Given the description of an element on the screen output the (x, y) to click on. 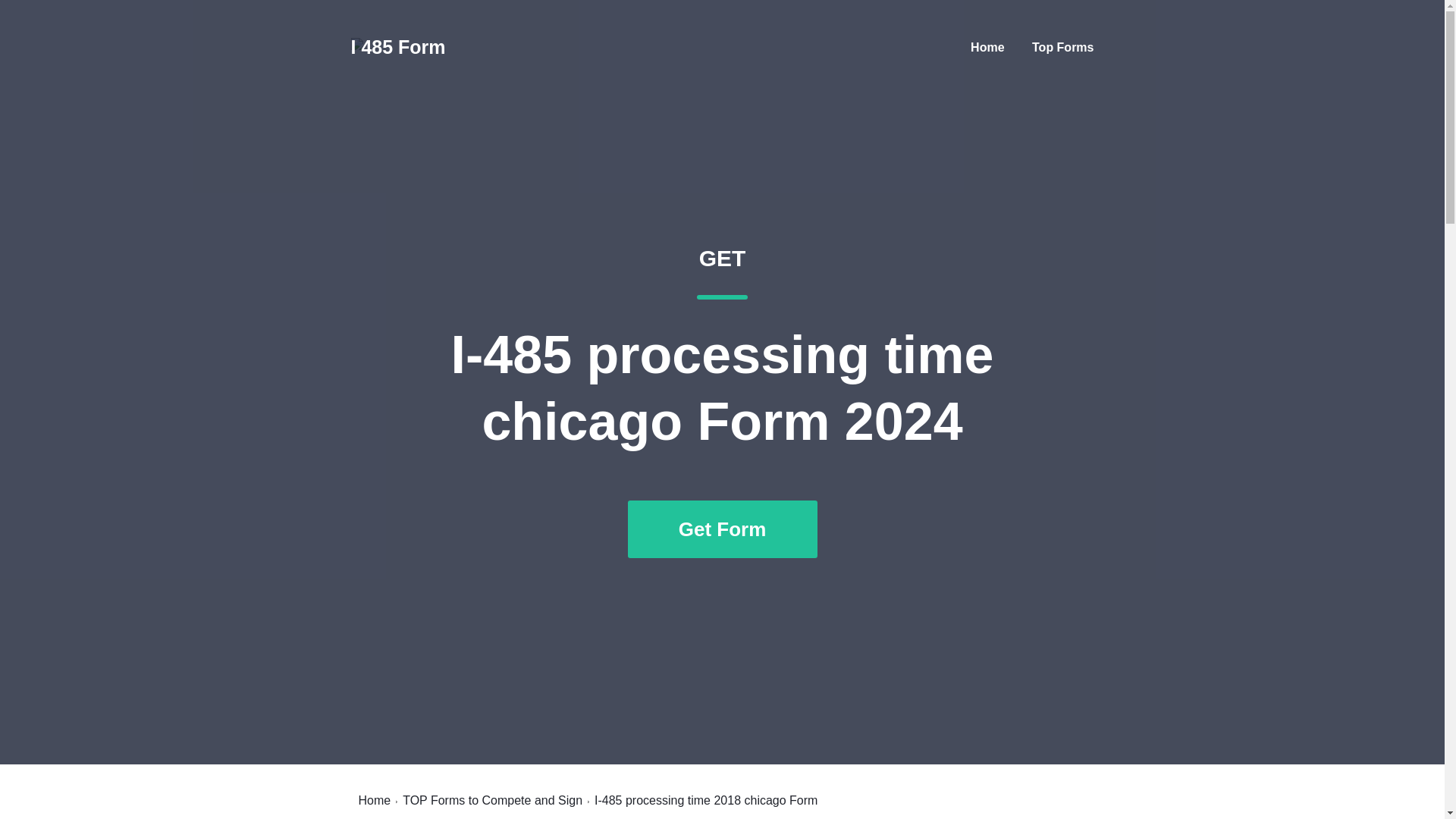
Top Forms (1062, 47)
TOP Forms to Compete and Sign (492, 800)
Home (374, 800)
Home (397, 46)
